Given the description of an element on the screen output the (x, y) to click on. 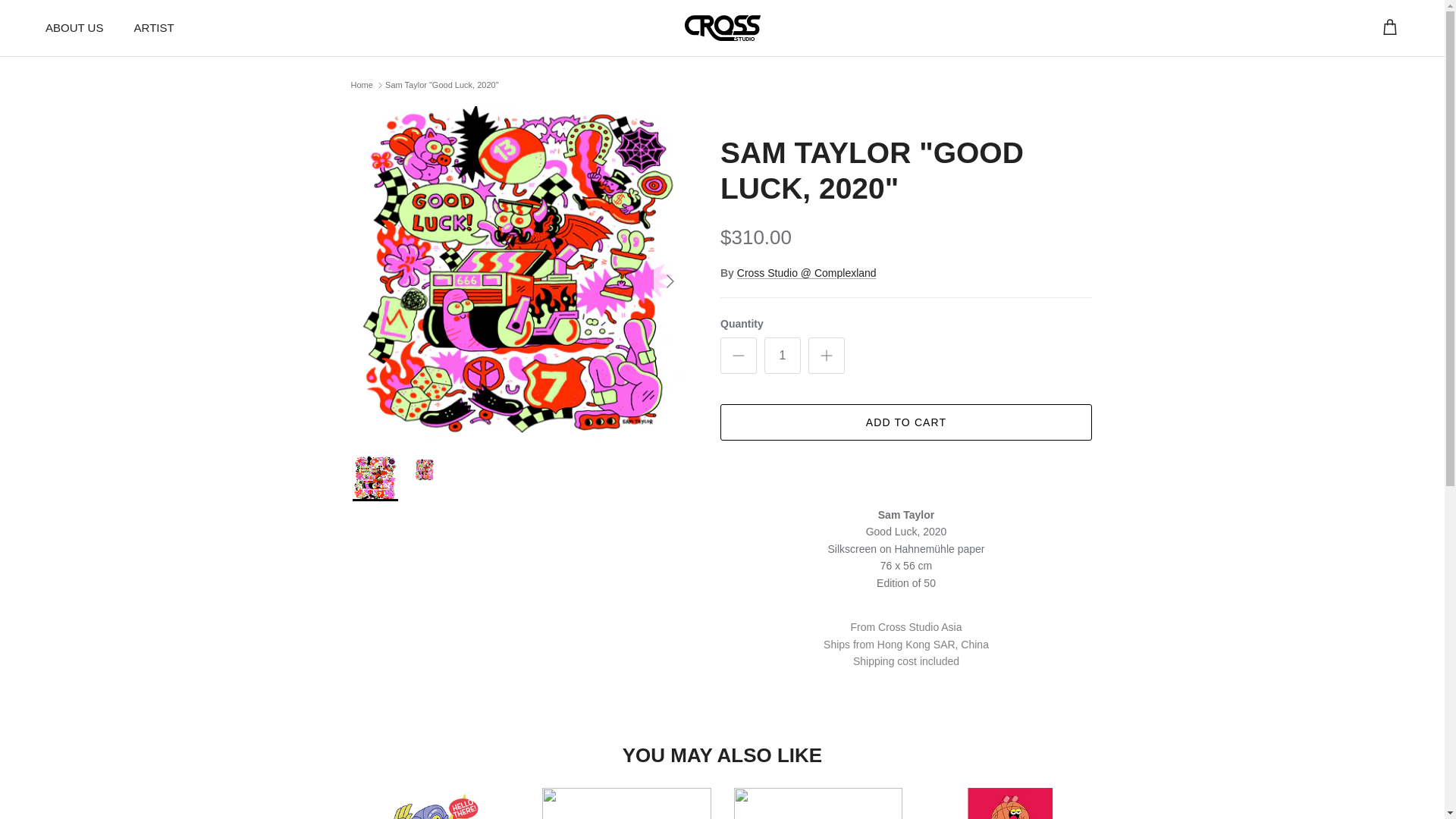
ABOUT US (74, 28)
ADD TO CART (906, 422)
ARTIST (153, 28)
1 (782, 355)
Cart (1389, 27)
Cross Studio (722, 27)
Next (670, 281)
Home (361, 84)
Sam Taylor "Good Luck, 2020" (441, 84)
